Given the description of an element on the screen output the (x, y) to click on. 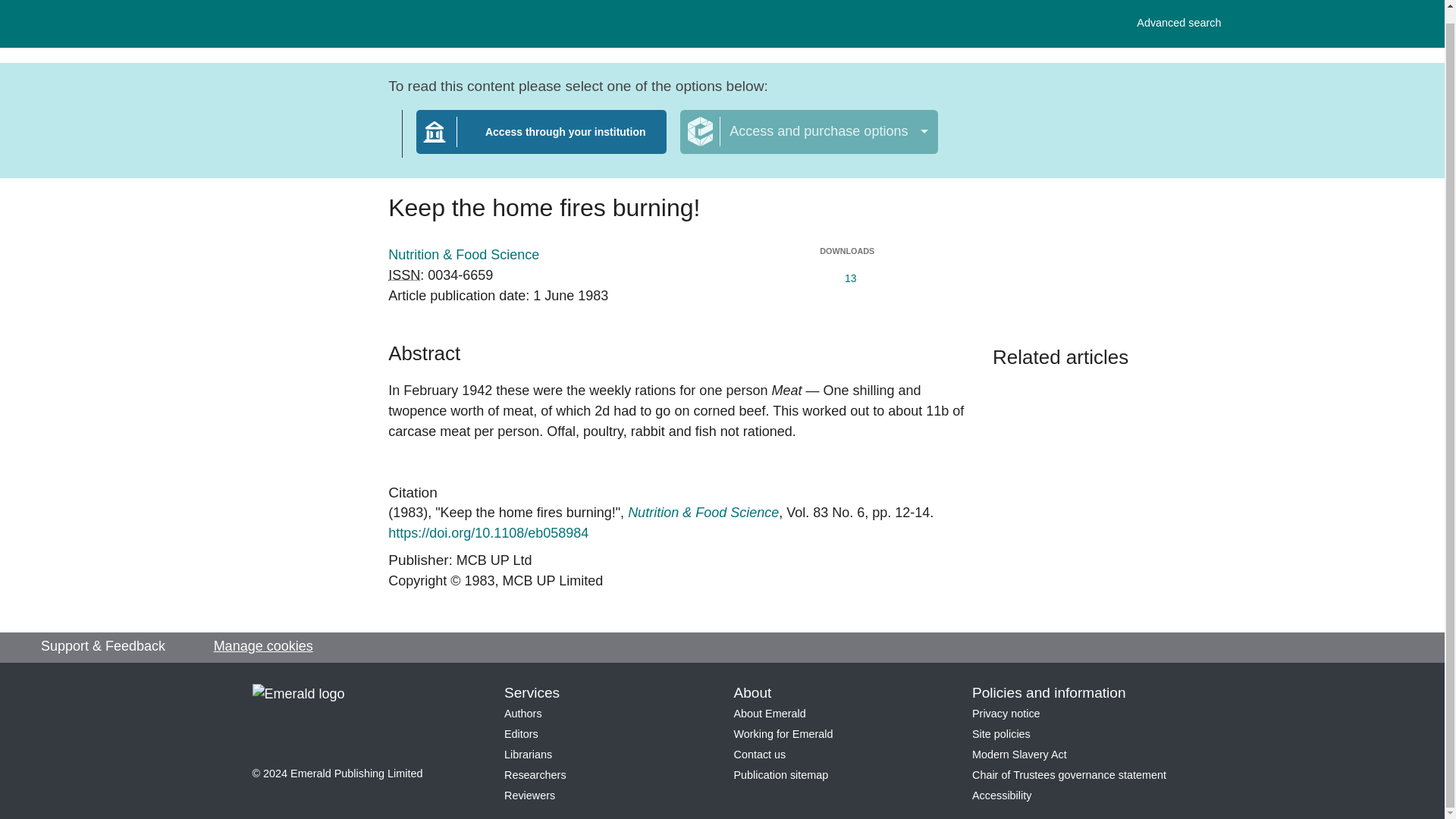
Manage cookies (263, 646)
Reviewers (528, 795)
Researchers (534, 775)
Access through your institution (1178, 13)
Accessibility (541, 140)
Privacy notice (1001, 795)
International Standard Serial Number. (1006, 713)
Editors (404, 274)
Librarians (520, 734)
Contact us (527, 754)
About Emerald (759, 754)
Working for Emerald (769, 713)
Site policies (782, 734)
Modern Slavery Act (1001, 734)
